Given the description of an element on the screen output the (x, y) to click on. 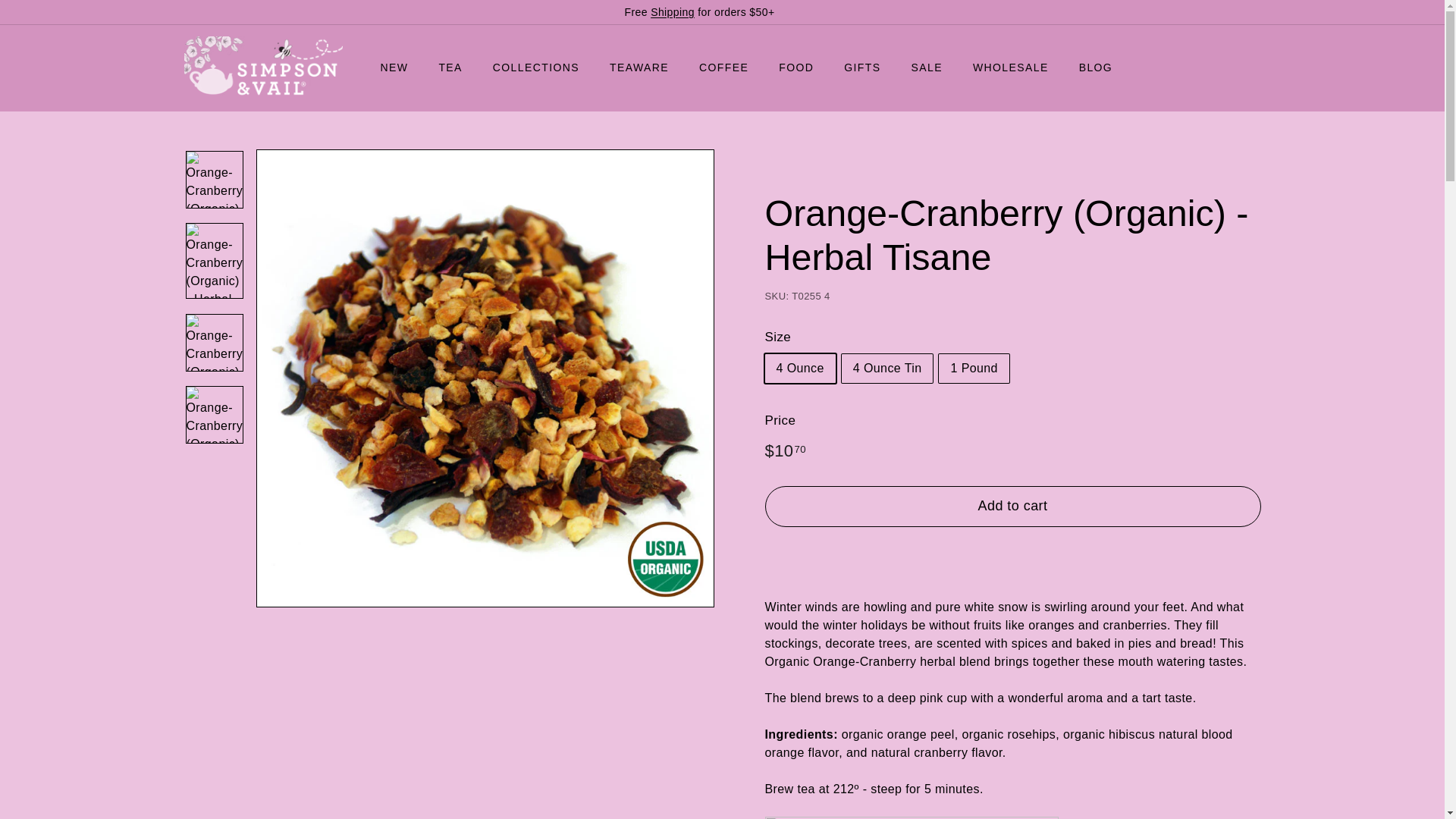
Facebook (1233, 12)
Instagram (1226, 12)
NEW (394, 67)
Shipping (672, 11)
YouTube (1240, 12)
Pinterest (1256, 12)
Twitter (1248, 12)
